Given the description of an element on the screen output the (x, y) to click on. 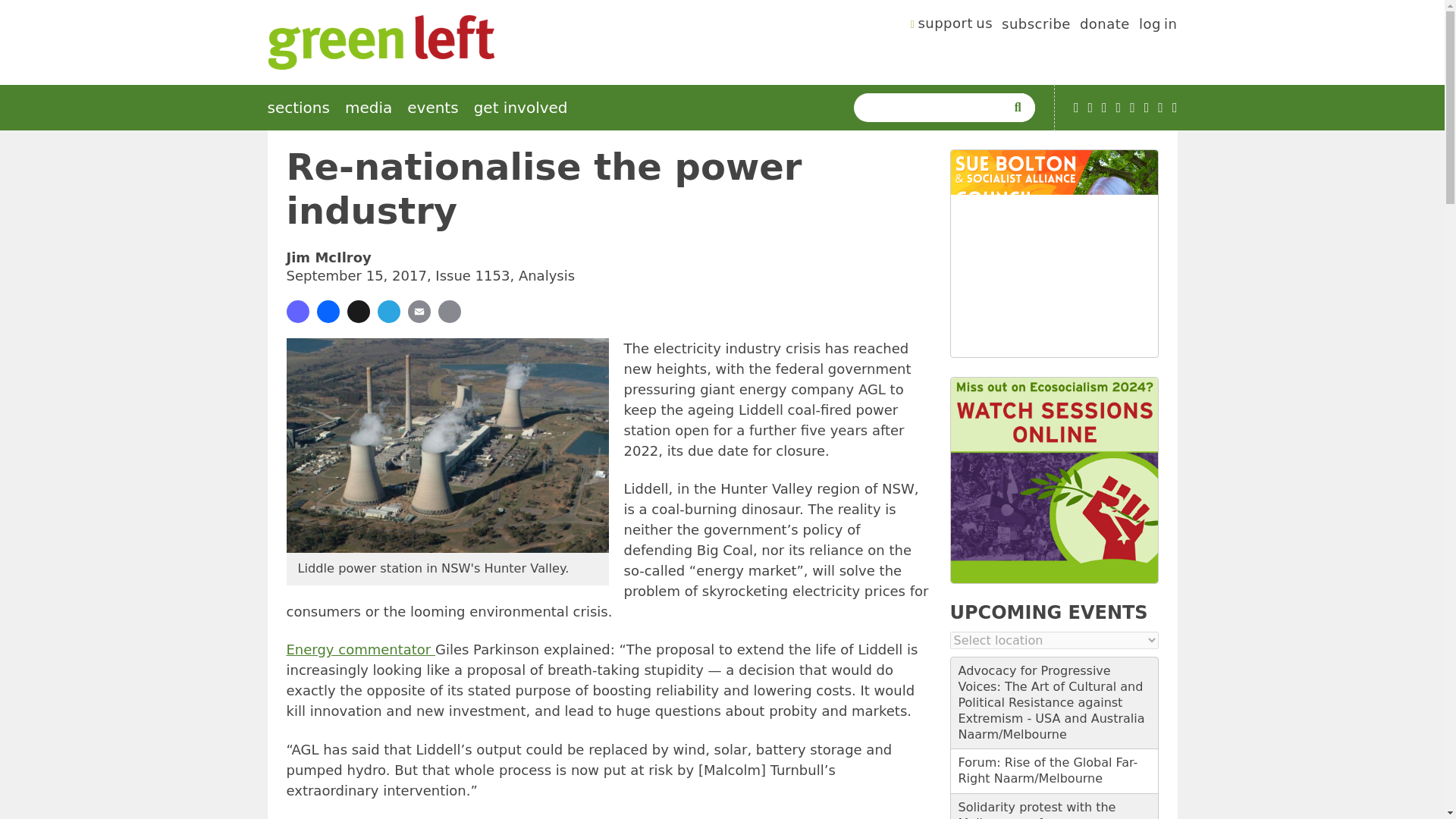
Share on Telegram (388, 311)
Share on X (358, 311)
TikTok (1118, 107)
log in (1157, 26)
share via email (418, 311)
Enter the terms you wish to search for. (932, 107)
events (432, 107)
donate (1104, 26)
Podcast (1090, 107)
YouTube (1076, 107)
support us (951, 26)
Share on Mastondon (297, 311)
Print (449, 311)
Facebook (1104, 107)
Share on Facebook (328, 311)
